Given the description of an element on the screen output the (x, y) to click on. 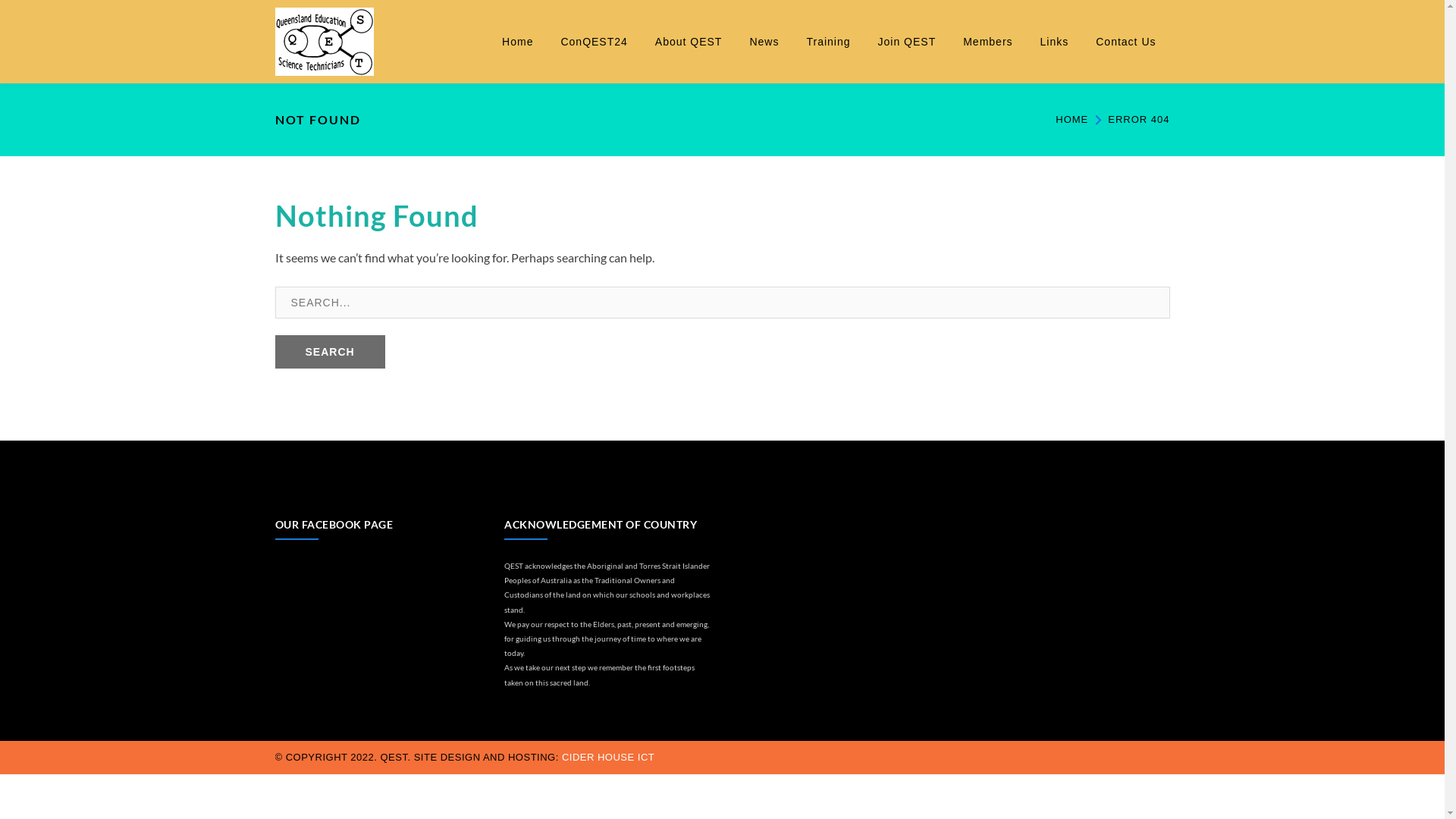
Training Element type: text (827, 41)
About QEST Element type: text (688, 41)
News Element type: text (763, 41)
Contact Us Element type: text (1125, 41)
Home Element type: text (517, 41)
Queensland Education Science Technicians Element type: hover (323, 39)
SEARCH Element type: text (329, 351)
Members Element type: text (987, 41)
Search for: Element type: hover (721, 302)
Join QEST Element type: text (906, 41)
HOME Element type: text (1071, 119)
CIDER HOUSE ICT Element type: text (607, 756)
Links Element type: text (1054, 41)
ConQEST24 Element type: text (593, 41)
